Given the description of an element on the screen output the (x, y) to click on. 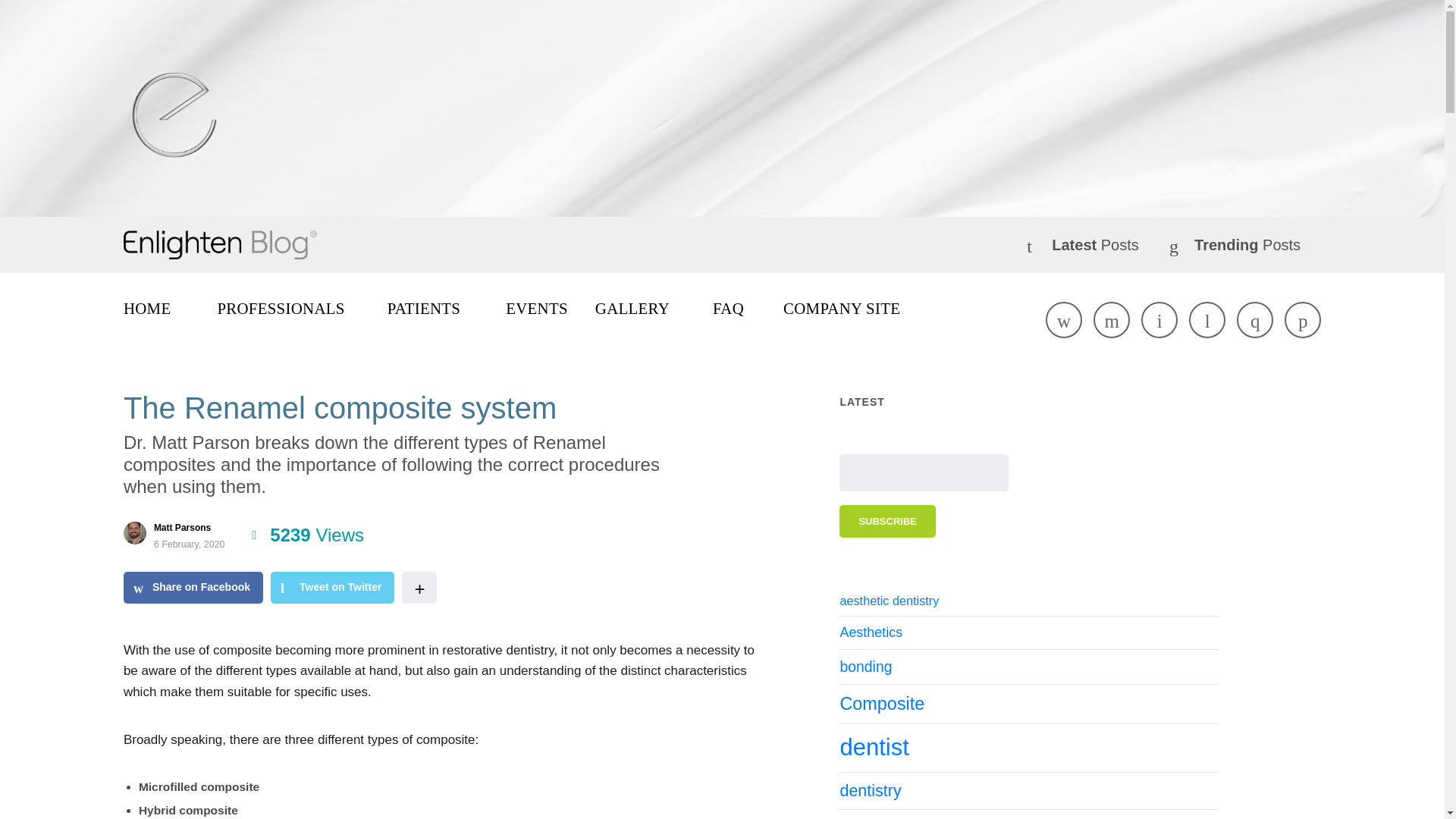
PROFESSIONALS (279, 309)
EVENTS (536, 309)
Subscribe (888, 521)
PATIENTS (424, 309)
Trending Posts (1246, 245)
COMPANY SITE (841, 309)
GALLERY (632, 309)
Latest Posts (1094, 245)
